Given the description of an element on the screen output the (x, y) to click on. 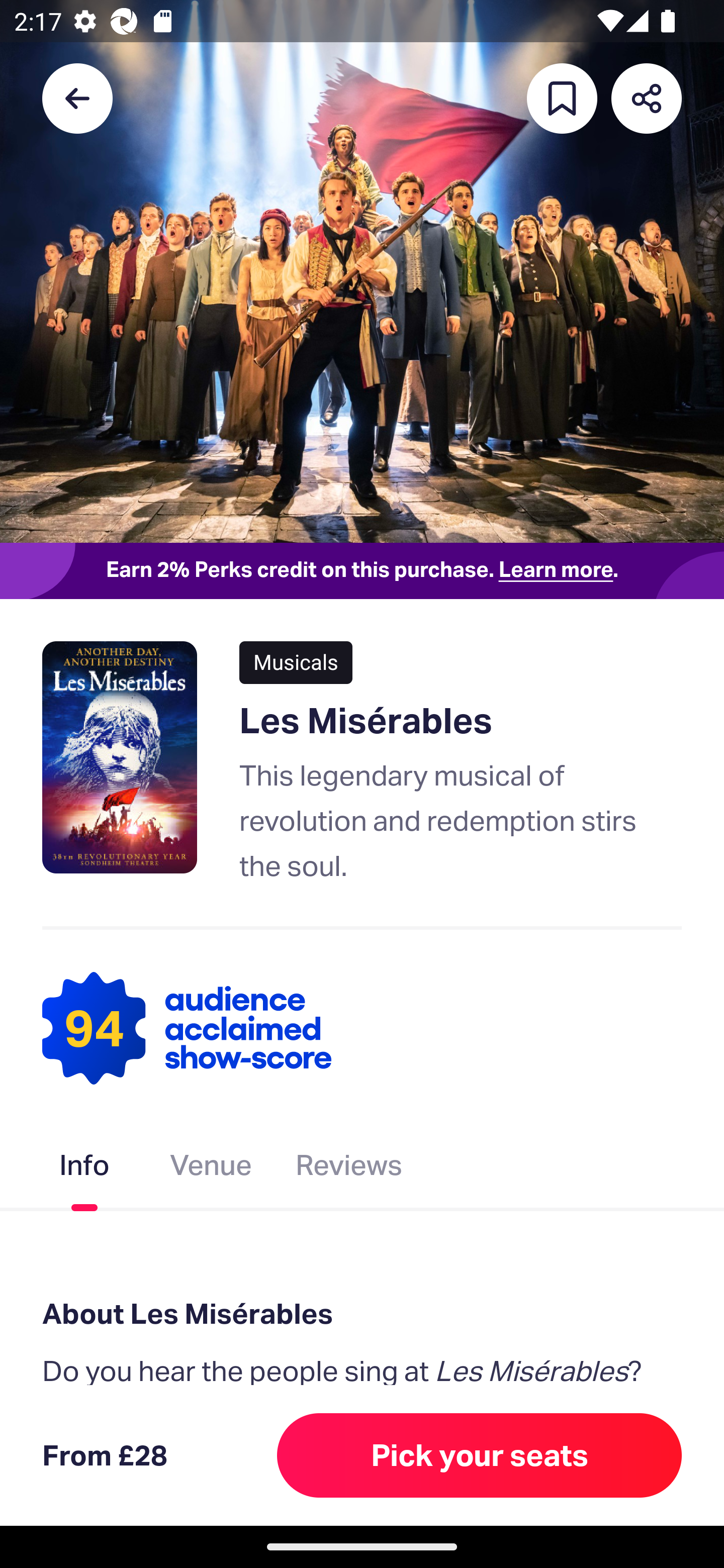
Earn 2% Perks credit on this purchase. Learn more. (362, 570)
Venue (210, 1168)
Reviews (348, 1168)
About Les Misérables (361, 1313)
Pick your seats (479, 1454)
